Given the description of an element on the screen output the (x, y) to click on. 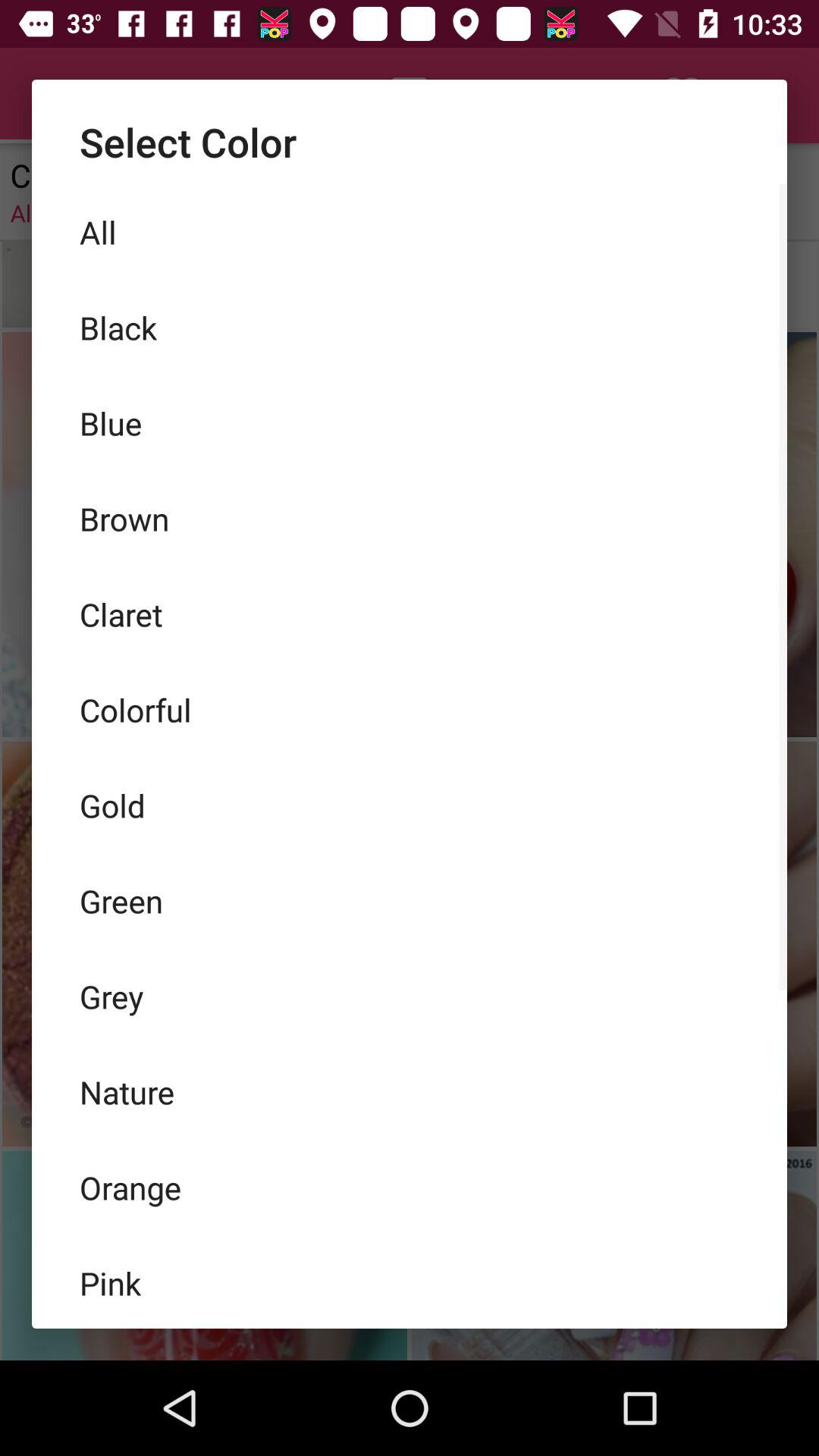
tap icon below colorful icon (409, 805)
